Given the description of an element on the screen output the (x, y) to click on. 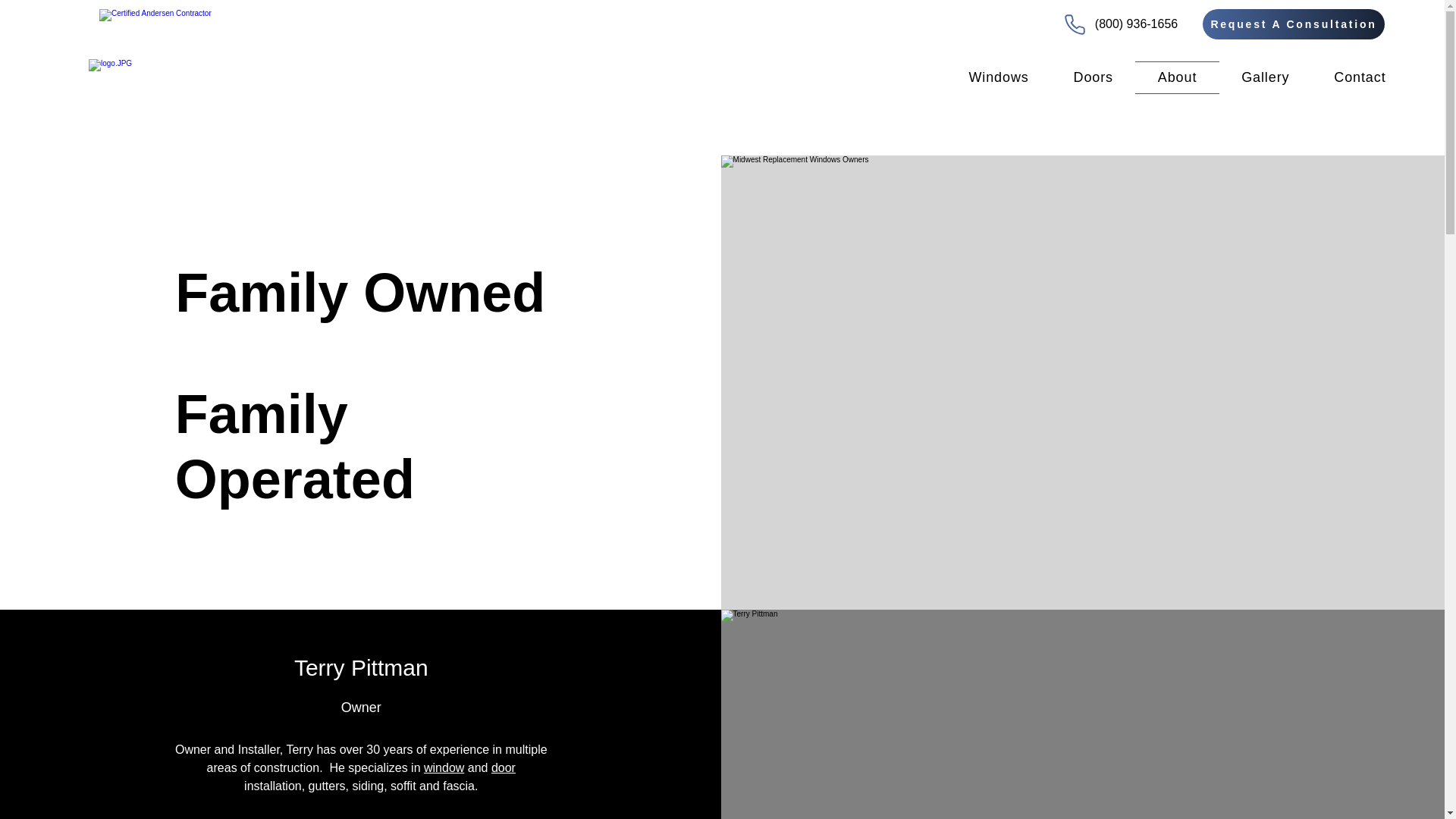
About (1176, 77)
window (443, 767)
door (503, 767)
Andersen Certified Contractor (165, 27)
Doors (1093, 77)
Contact (1359, 77)
Windows (998, 77)
Gallery (1265, 77)
Request A Consultation (1293, 24)
